Given the description of an element on the screen output the (x, y) to click on. 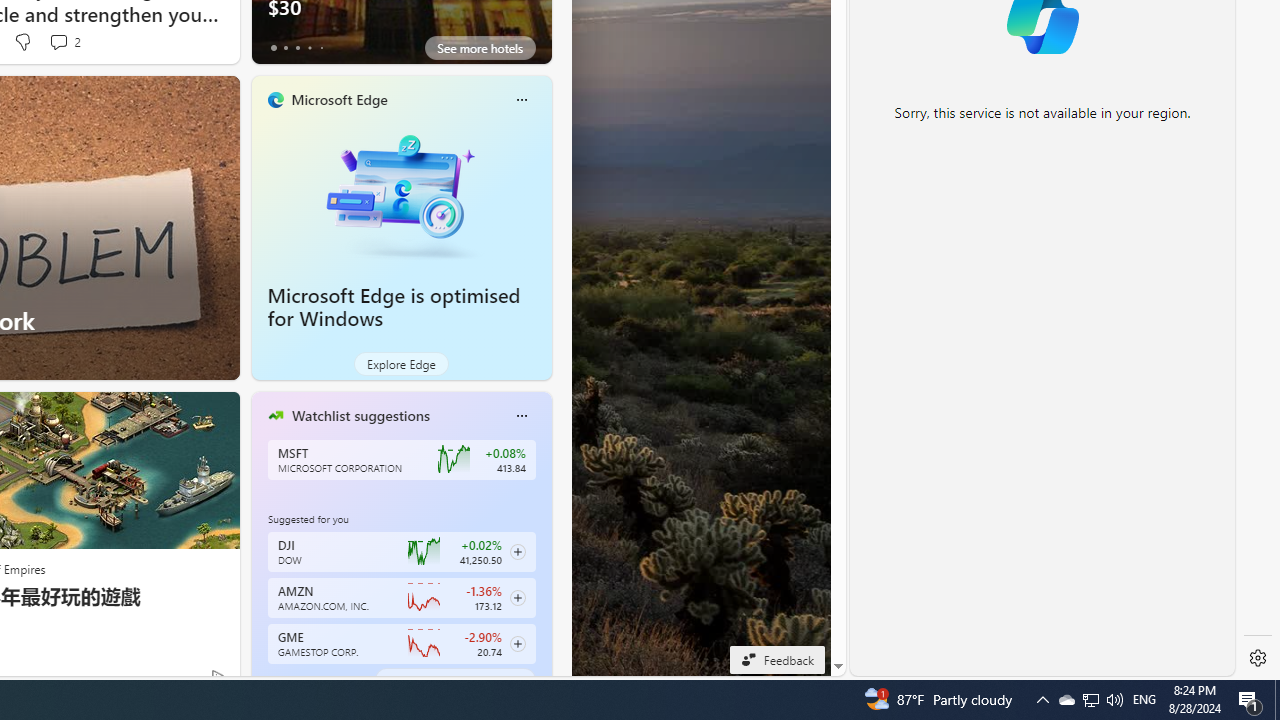
tab-2 (297, 679)
Microsoft Edge (338, 99)
tab-1 (285, 679)
View comments 2 Comment (58, 41)
Watchlist suggestions (360, 415)
tab-3 (309, 679)
tab-4 (320, 679)
See more hotels (479, 47)
Settings (1258, 658)
Explore Edge (401, 363)
